Given the description of an element on the screen output the (x, y) to click on. 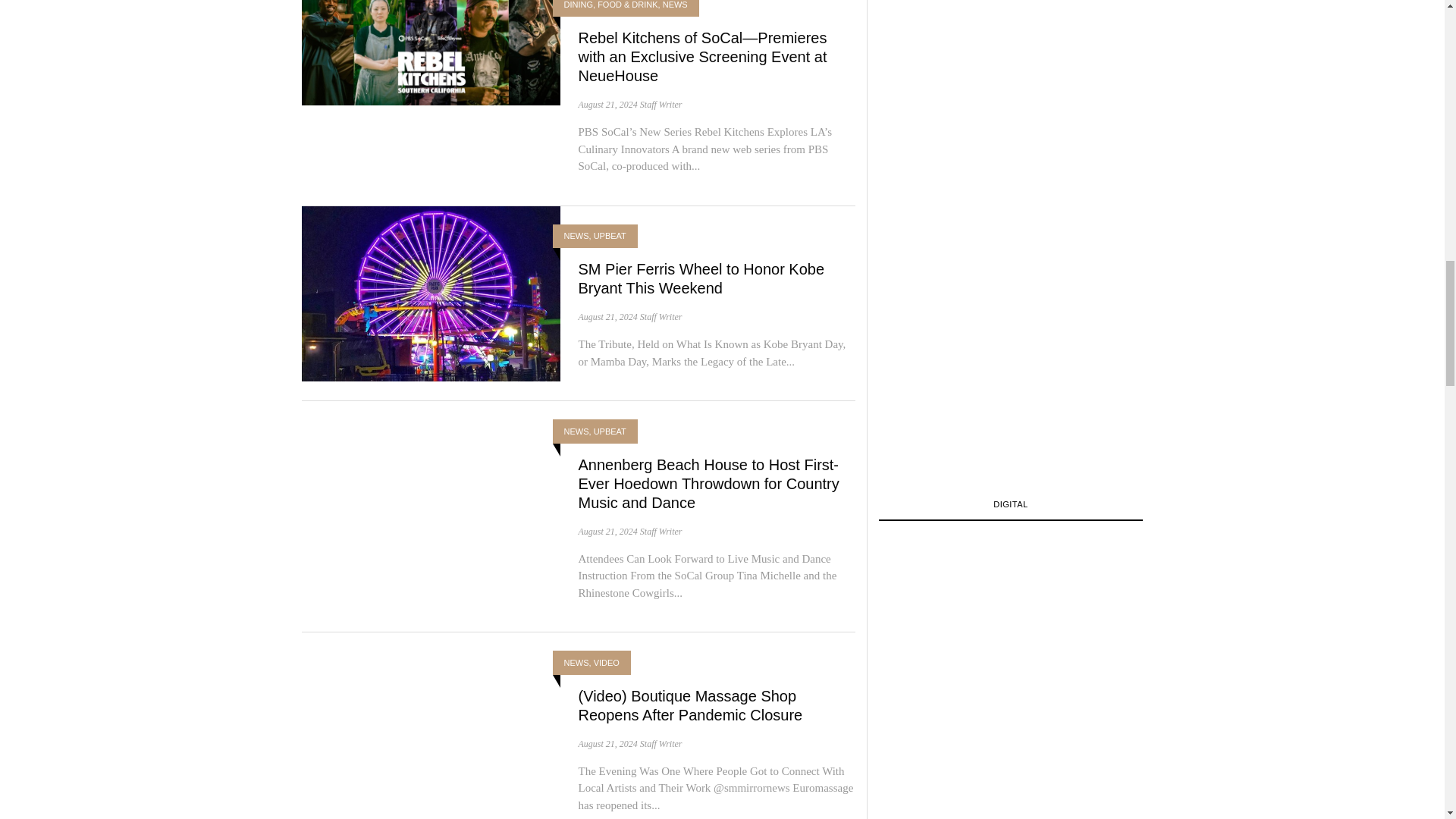
SM Pier Ferris Wheel to Honor Kobe Bryant This Weekend (701, 278)
SM Pier Ferris Wheel to Honor Kobe Bryant This Weekend (430, 291)
Posts by Staff Writer (661, 317)
Posts by Staff Writer (661, 104)
Posts by Staff Writer (661, 531)
